Given the description of an element on the screen output the (x, y) to click on. 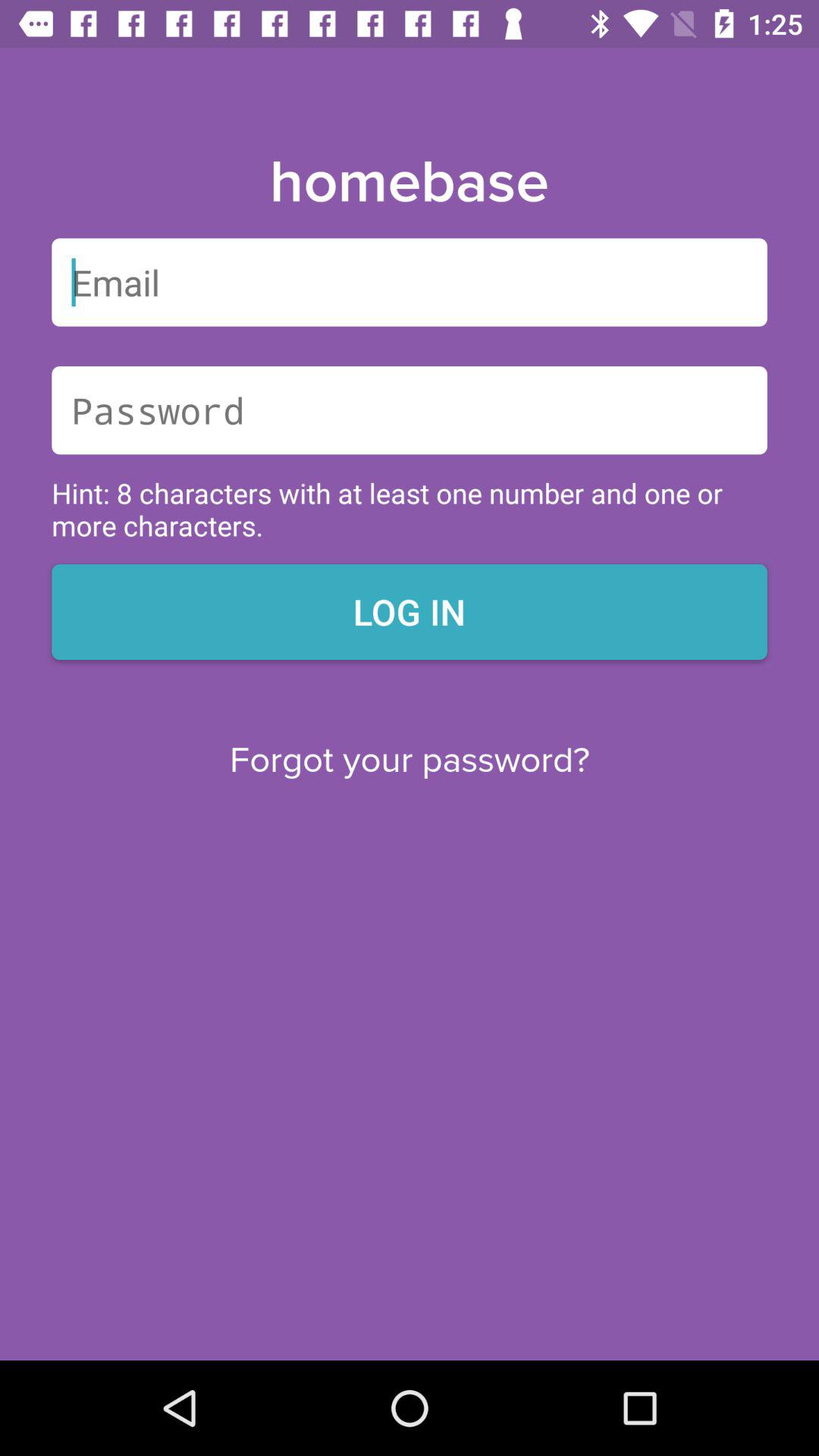
opens a field to type an e-mail address (409, 282)
